Given the description of an element on the screen output the (x, y) to click on. 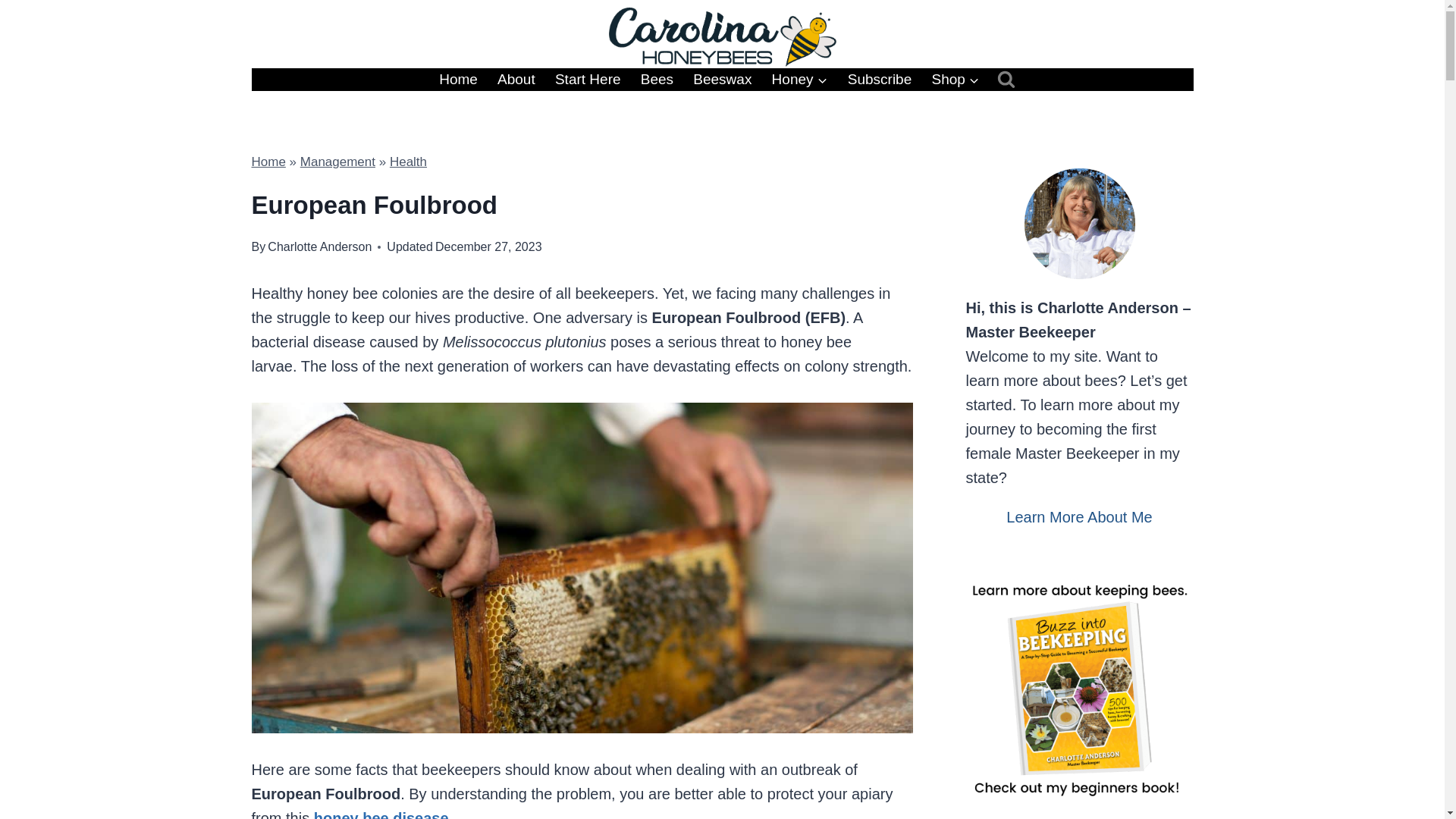
Management (337, 161)
Shop (955, 78)
Health (408, 161)
Bees (657, 78)
Subscribe (879, 78)
Beeswax (721, 78)
honey bee disease (381, 814)
Start Here (587, 78)
Charlotte Anderson (319, 246)
About (515, 78)
